Given the description of an element on the screen output the (x, y) to click on. 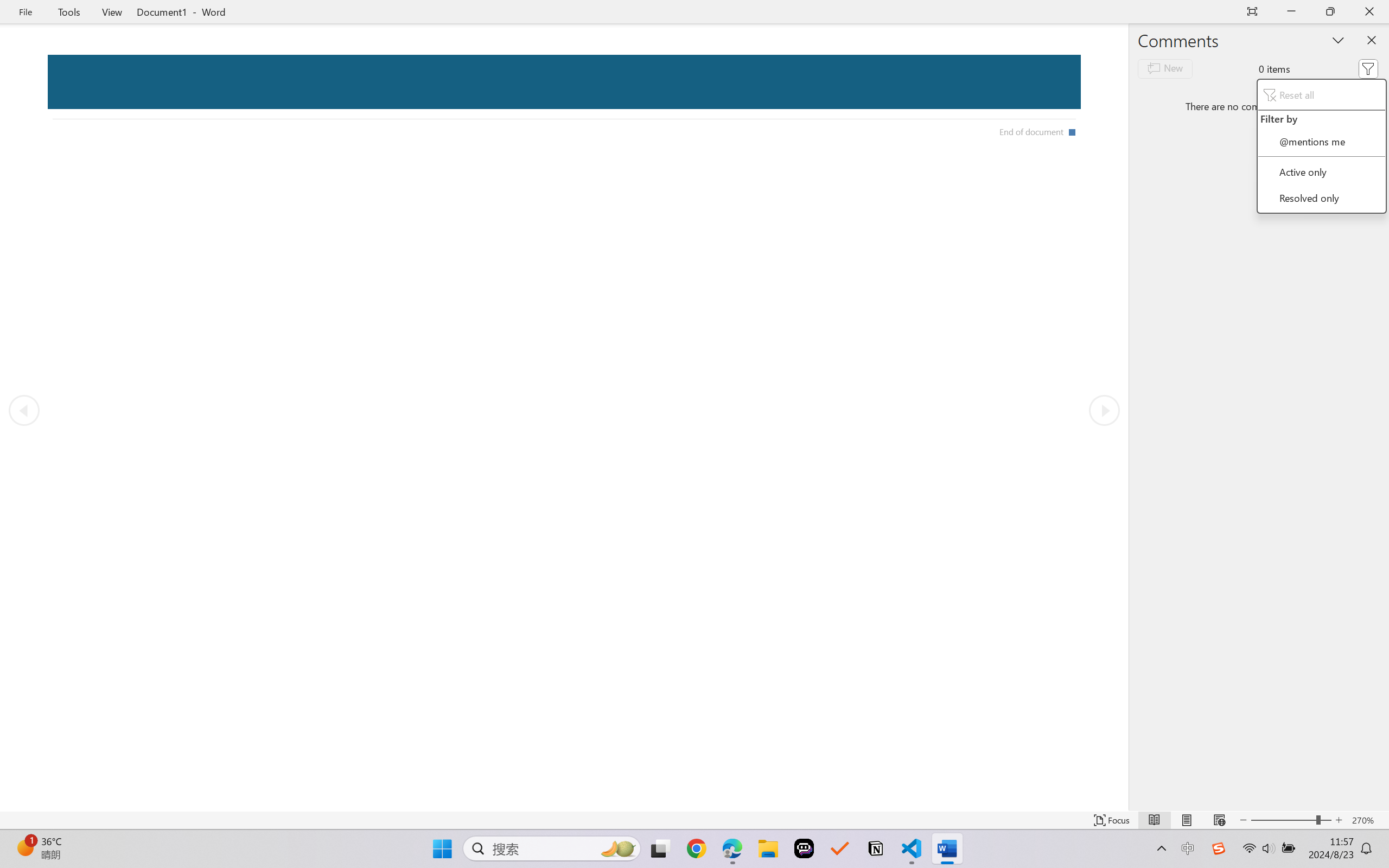
Auto-hide Reading Toolbar (1252, 11)
Tools (69, 11)
Move (1308, 62)
Active only (1321, 171)
